Given the description of an element on the screen output the (x, y) to click on. 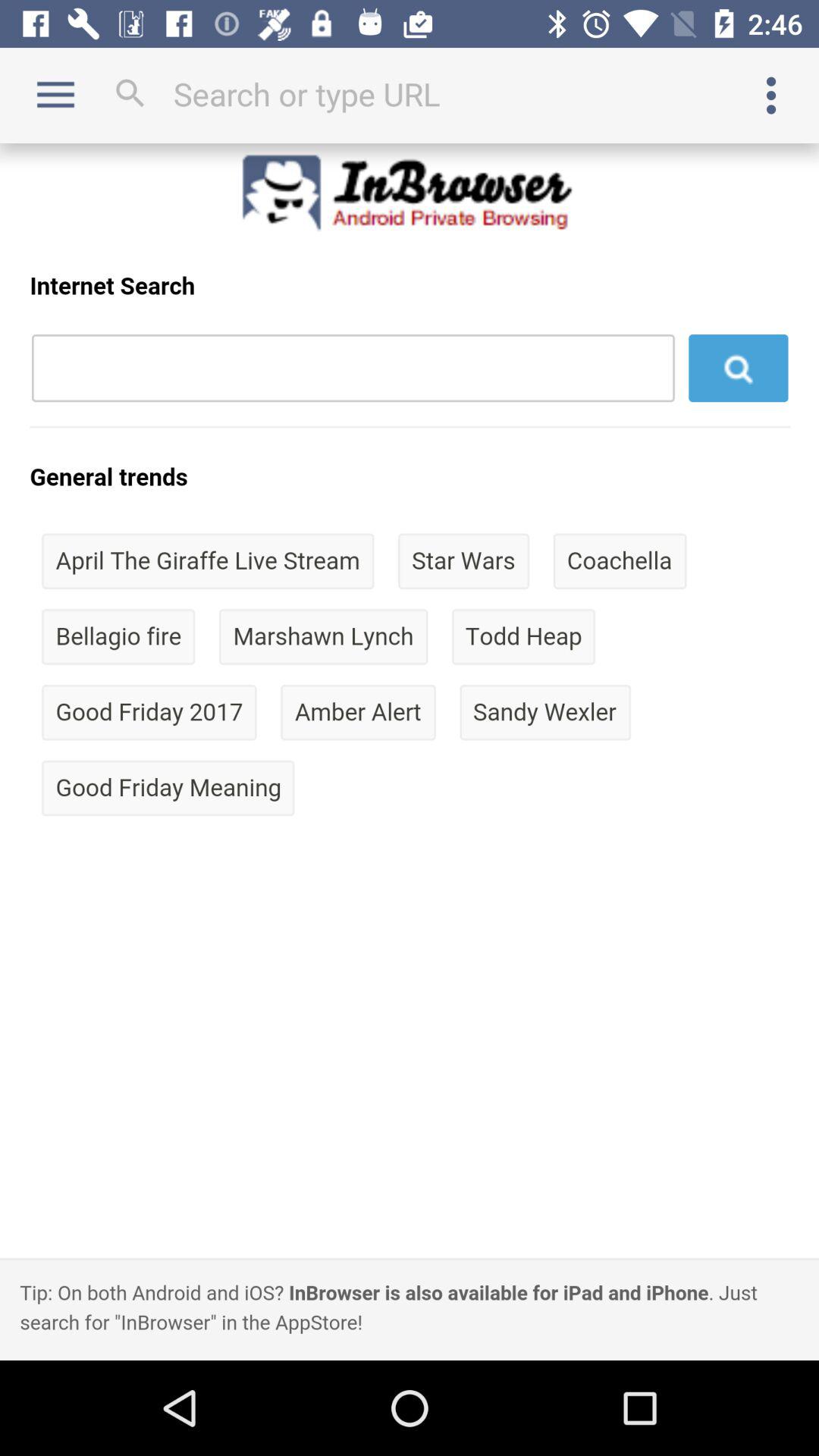
inbrowser home page (409, 751)
